Given the description of an element on the screen output the (x, y) to click on. 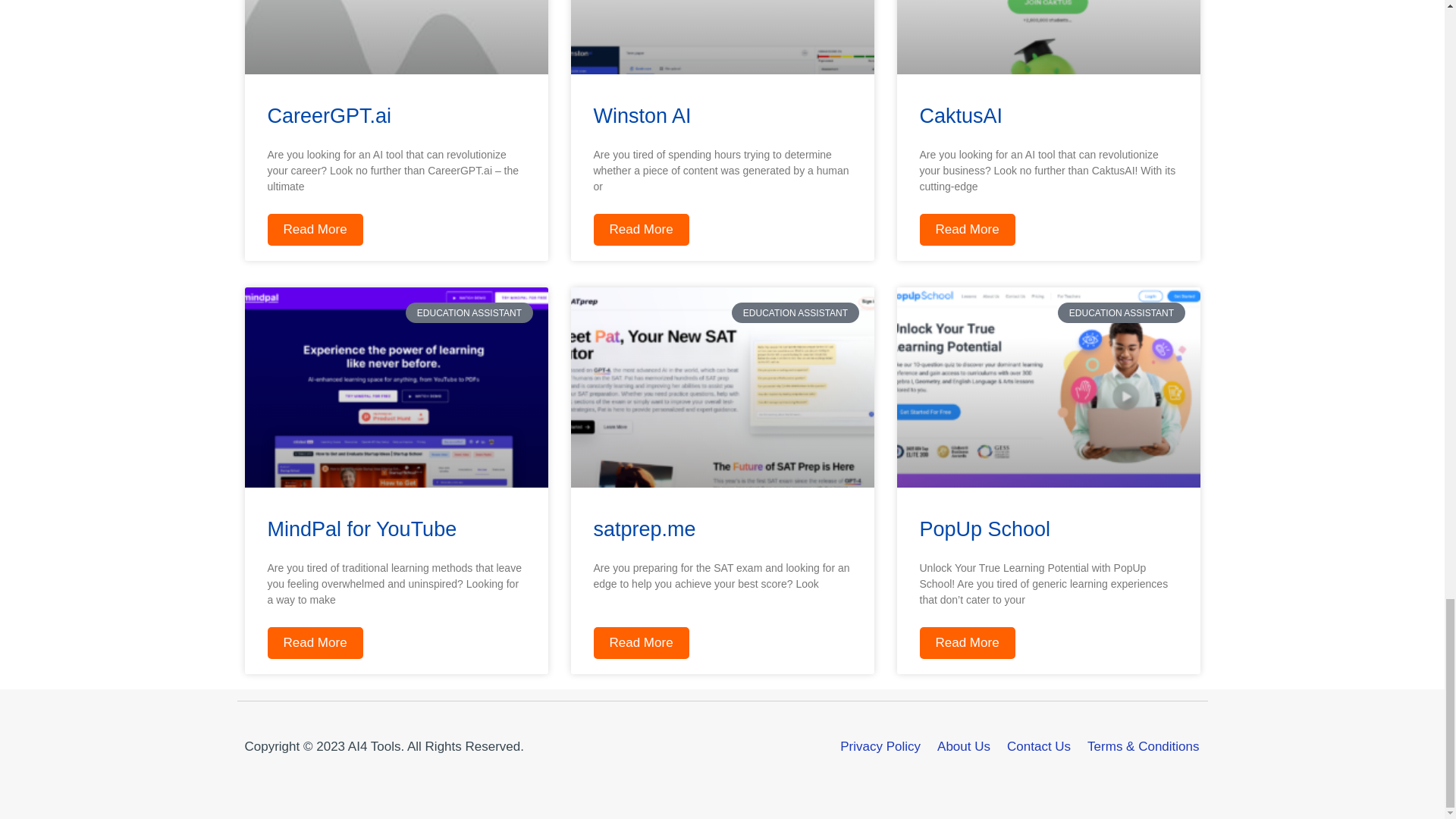
Read More (640, 643)
PopUp School (983, 528)
CaktusAI (960, 115)
Read More (314, 643)
MindPal for YouTube (361, 528)
About Us (963, 746)
CareerGPT.ai (328, 115)
Privacy Policy (880, 746)
Winston AI (641, 115)
Read More (966, 643)
